Given the description of an element on the screen output the (x, y) to click on. 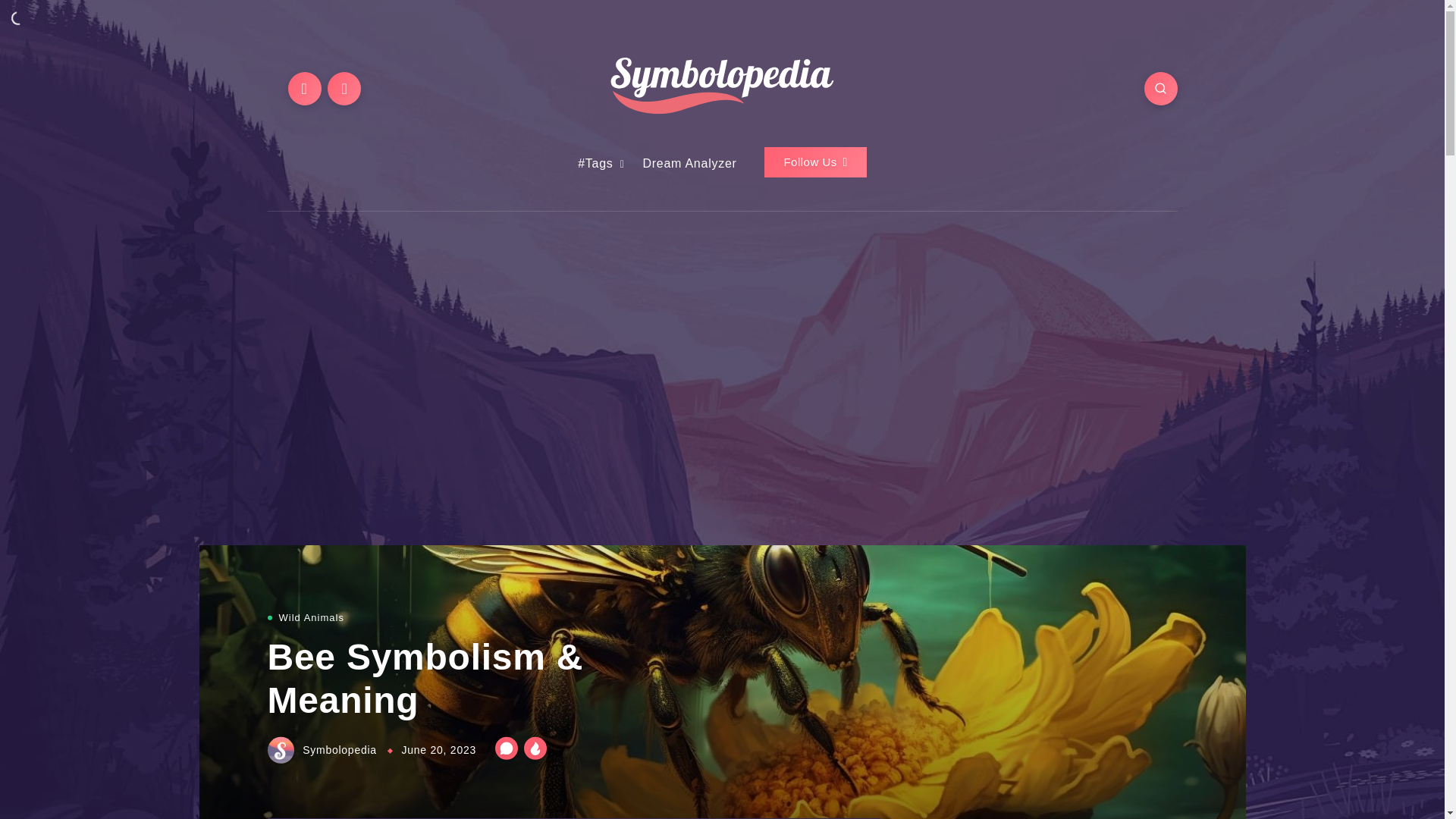
Symbolopedia (323, 749)
Dream Analyzer (689, 164)
Author: Symbolopedia (323, 749)
Follow Us (815, 162)
Wild Animals (310, 617)
